Given the description of an element on the screen output the (x, y) to click on. 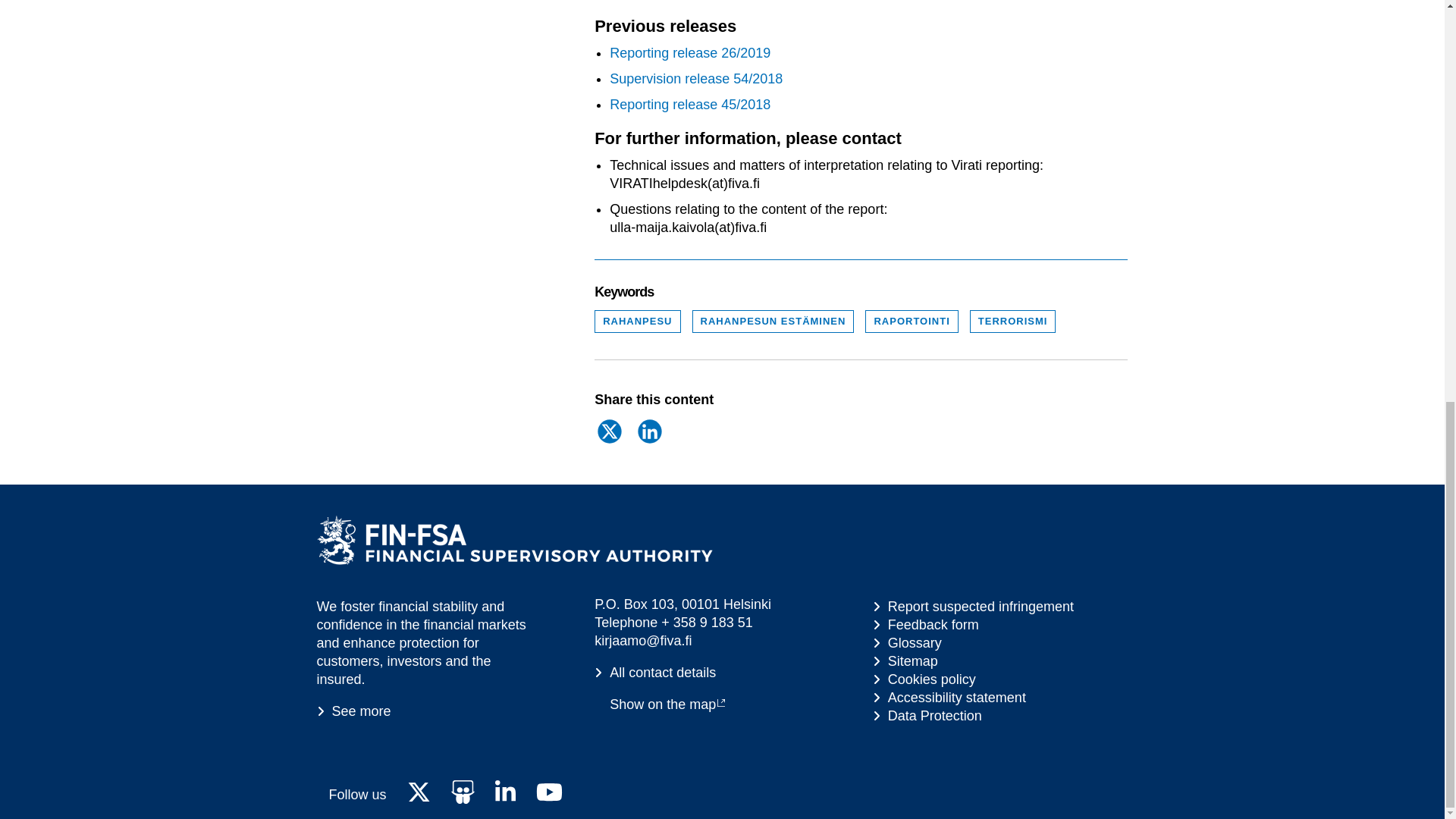
Glossary (907, 642)
Sitemap (923, 679)
Open keyword search using term Terrorismi (1013, 321)
See more (354, 710)
Open keyword search using term Raportointi (911, 321)
All contact details (655, 672)
Accessibility statement (949, 697)
Sitemap (904, 660)
Open keyword search using term Rahanpesu (636, 321)
Accessibility statement (926, 715)
